Given the description of an element on the screen output the (x, y) to click on. 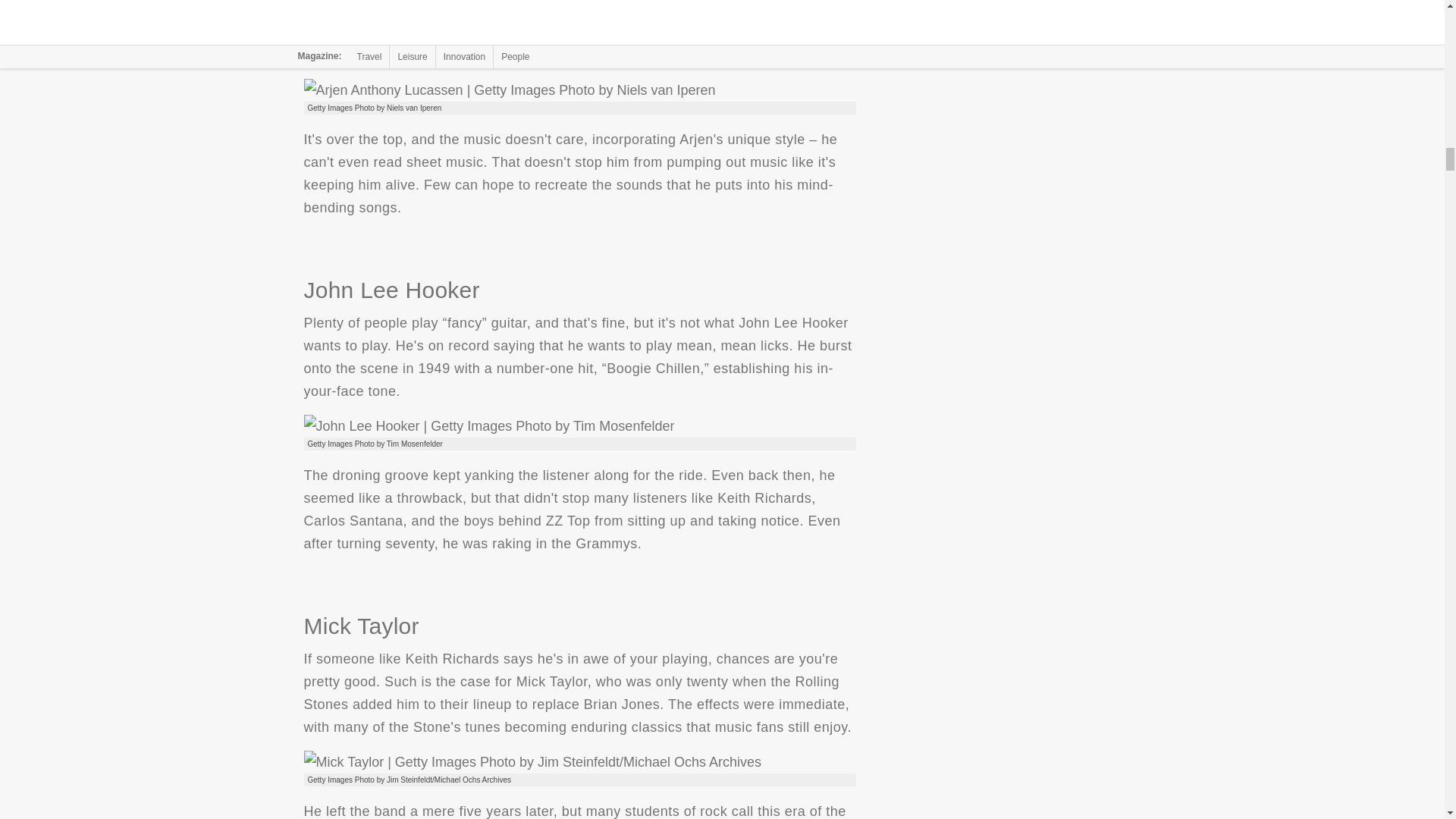
John Lee Hooker (488, 425)
Arjen Anthony Lucassen (508, 89)
